Given the description of an element on the screen output the (x, y) to click on. 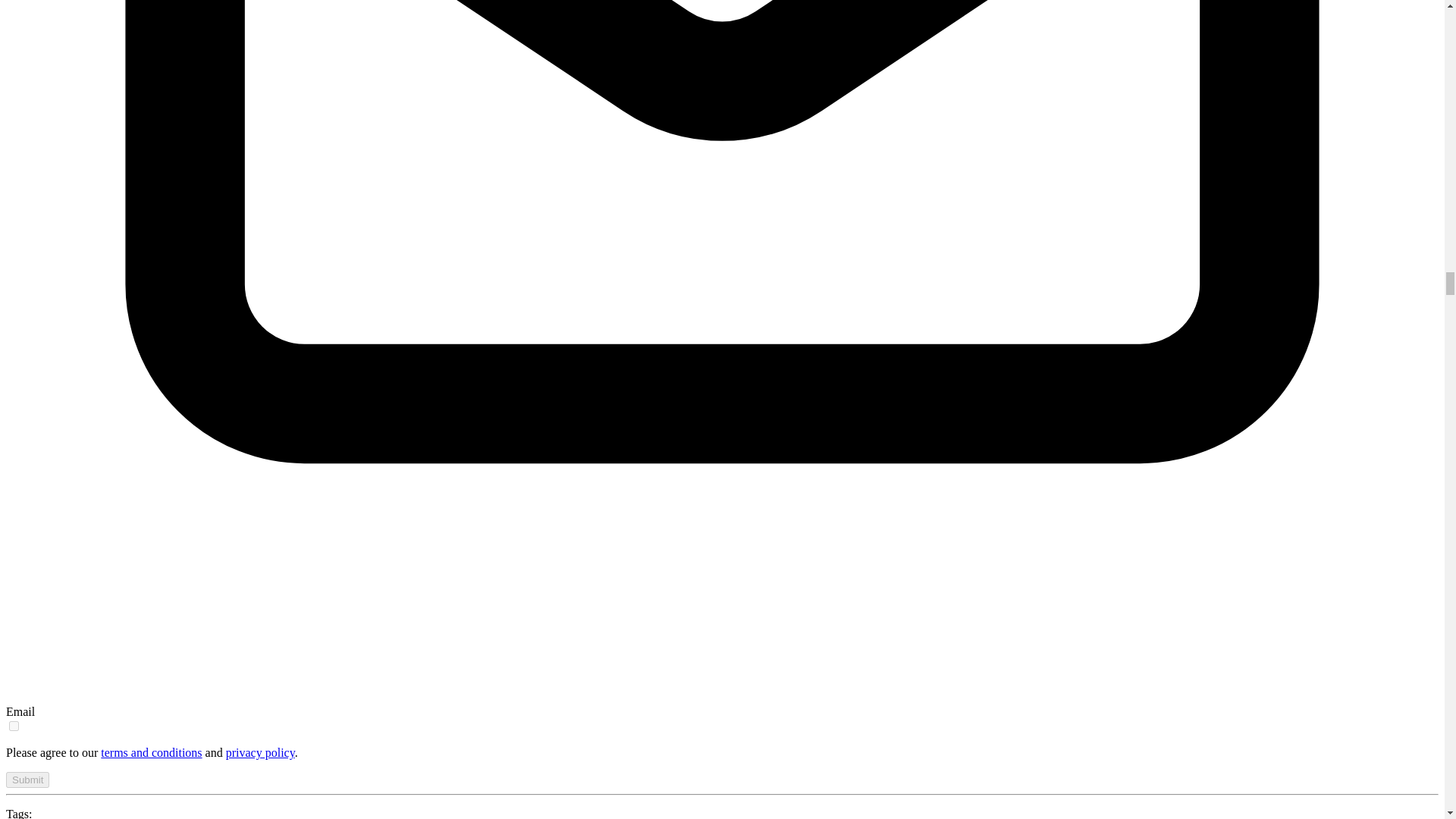
Submit (27, 779)
privacy policy (260, 752)
on (13, 726)
terms and conditions (151, 752)
